Given the description of an element on the screen output the (x, y) to click on. 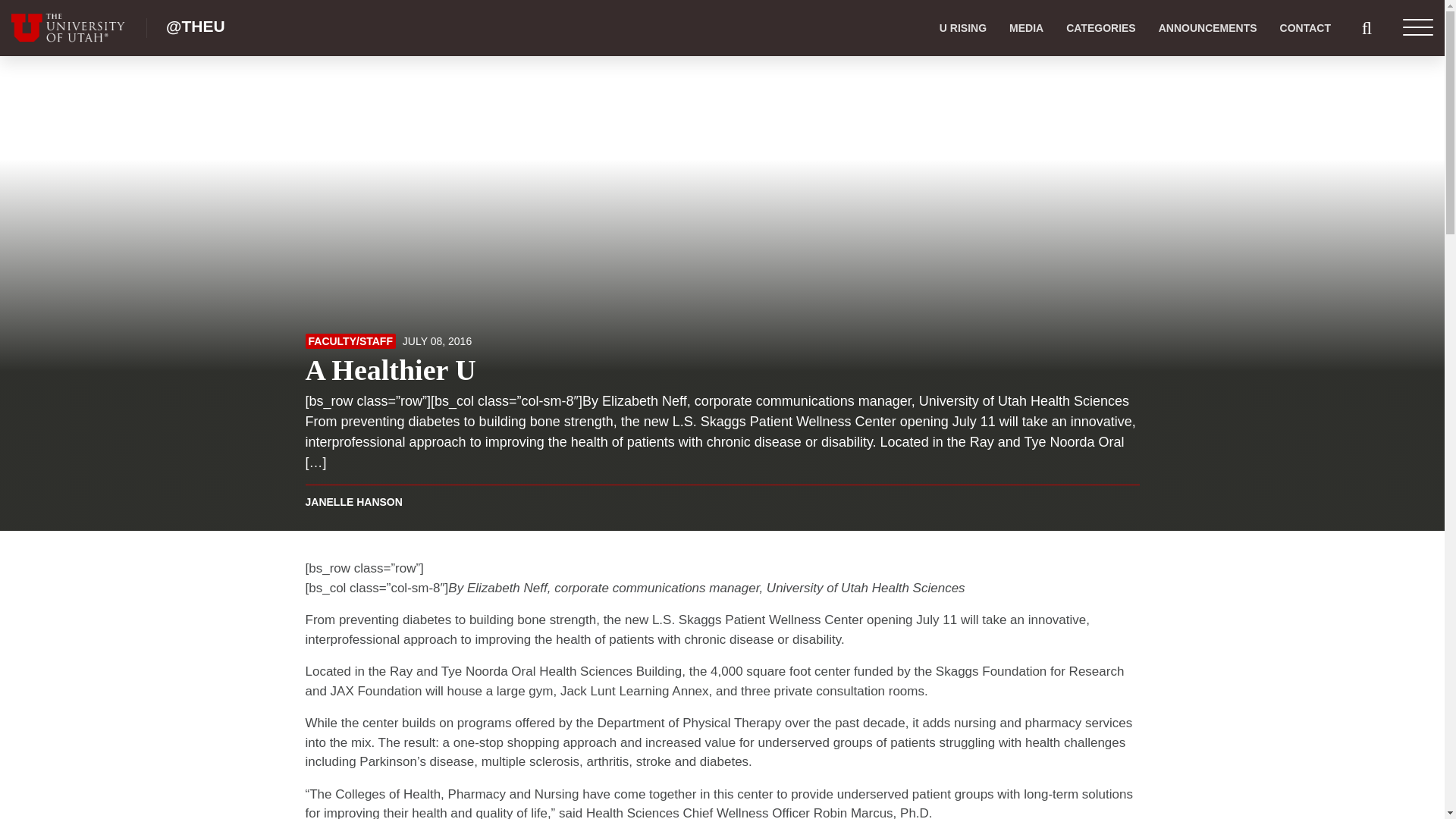
U RISING (962, 28)
MEDIA (1025, 28)
CATEGORIES (1100, 28)
